Given the description of an element on the screen output the (x, y) to click on. 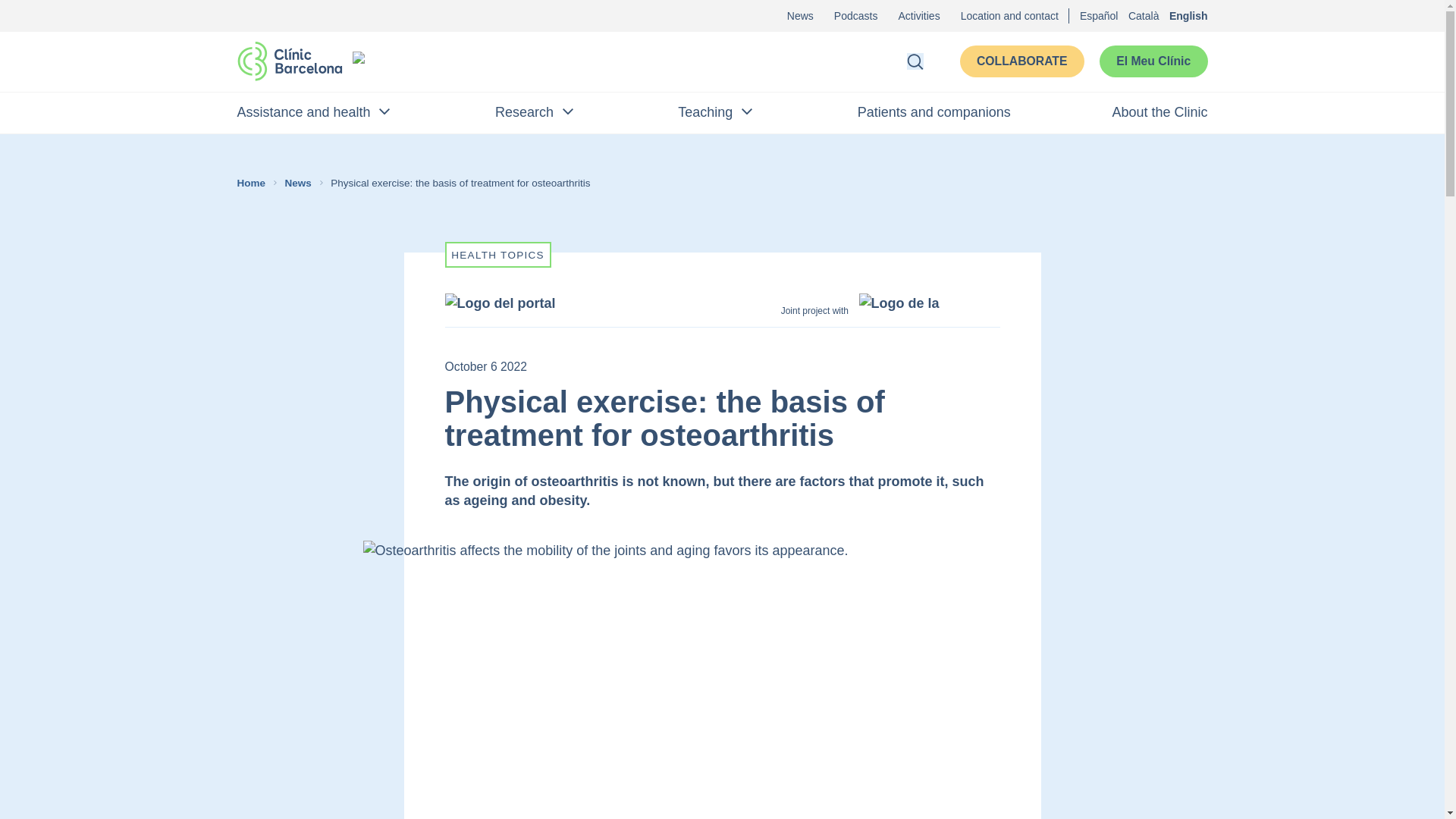
Podcasts (855, 15)
Research (535, 112)
News (301, 182)
Assistance and health (314, 112)
COLLABORATE (1021, 60)
News (800, 15)
Physical exercise: the basis of treatment for osteoarthritis (462, 182)
Teaching (716, 112)
Location and contact (1009, 15)
Patients and companions (933, 112)
Activities (918, 15)
